Given the description of an element on the screen output the (x, y) to click on. 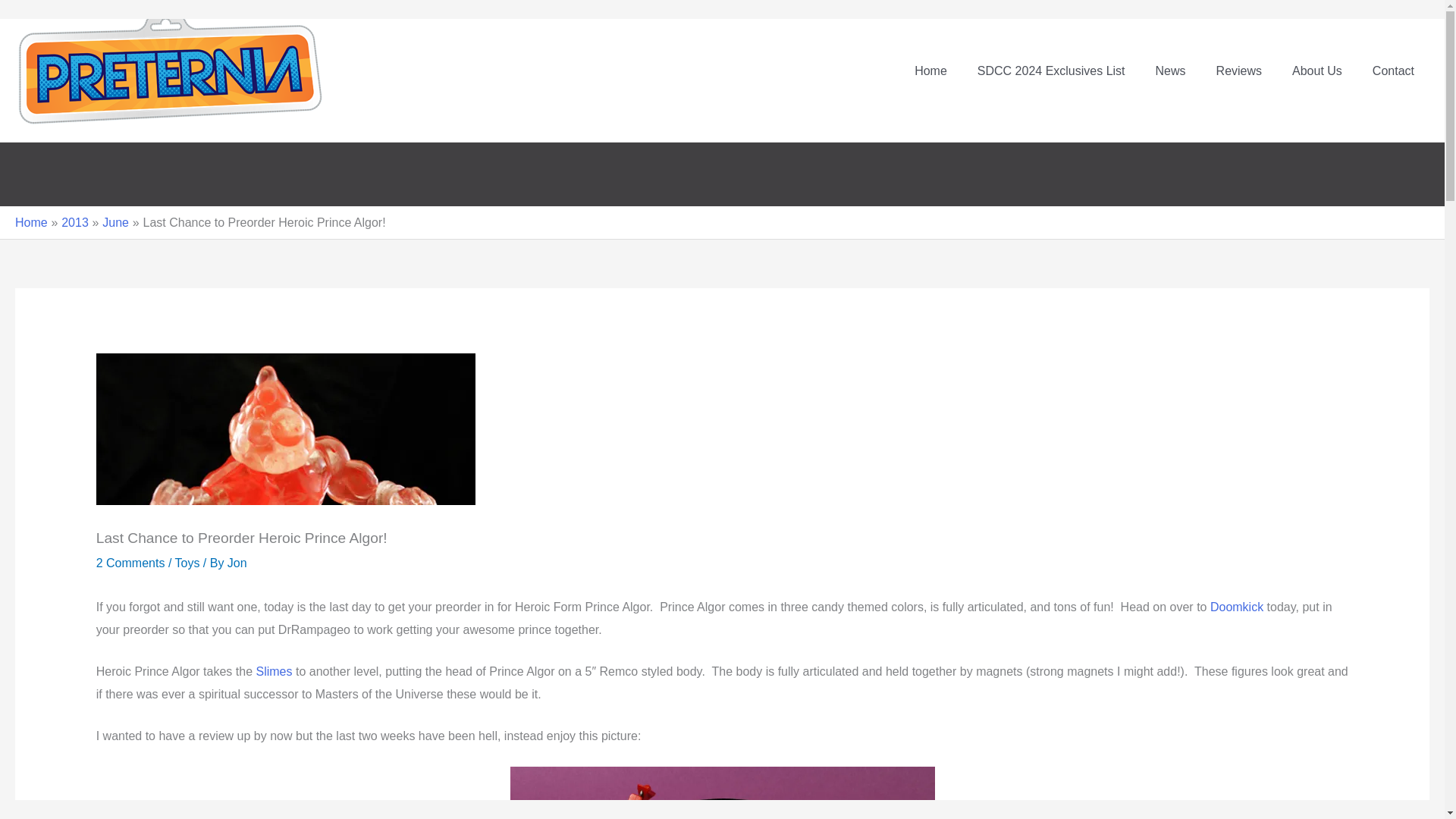
Facebook (60, 165)
YouTube (115, 165)
About Us (1316, 70)
Instagram (88, 165)
Slimes (274, 671)
News (1170, 70)
Reviews (1238, 70)
2 Comments (130, 562)
Jon (237, 562)
SDCC 2024 Exclusives List (1051, 70)
